Given the description of an element on the screen output the (x, y) to click on. 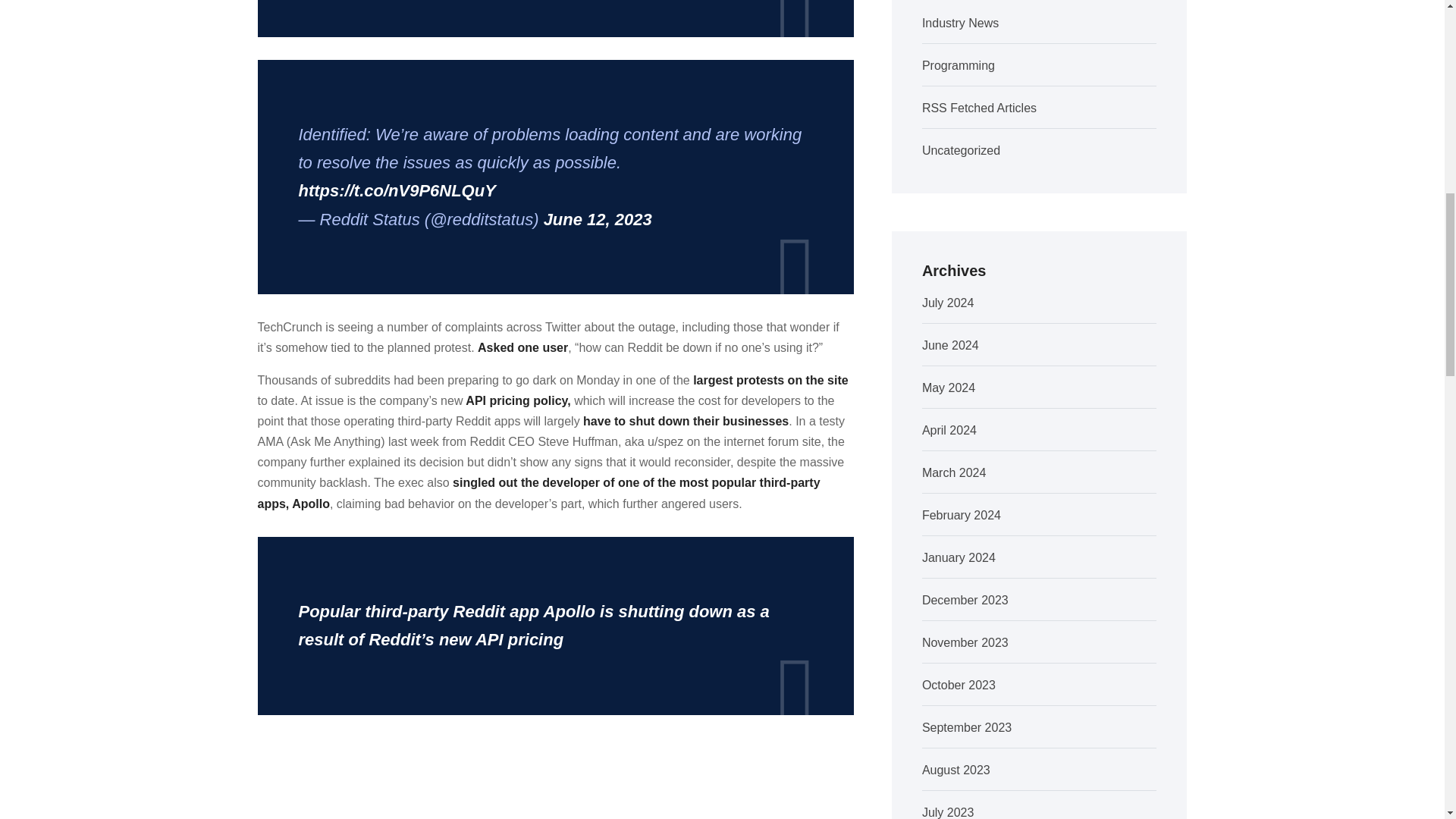
June 12, 2023 (597, 219)
largest protests on the site (770, 379)
API pricing policy, (516, 400)
Industry News (959, 22)
Asked one user (522, 347)
have to shut down their businesses (686, 420)
